Given the description of an element on the screen output the (x, y) to click on. 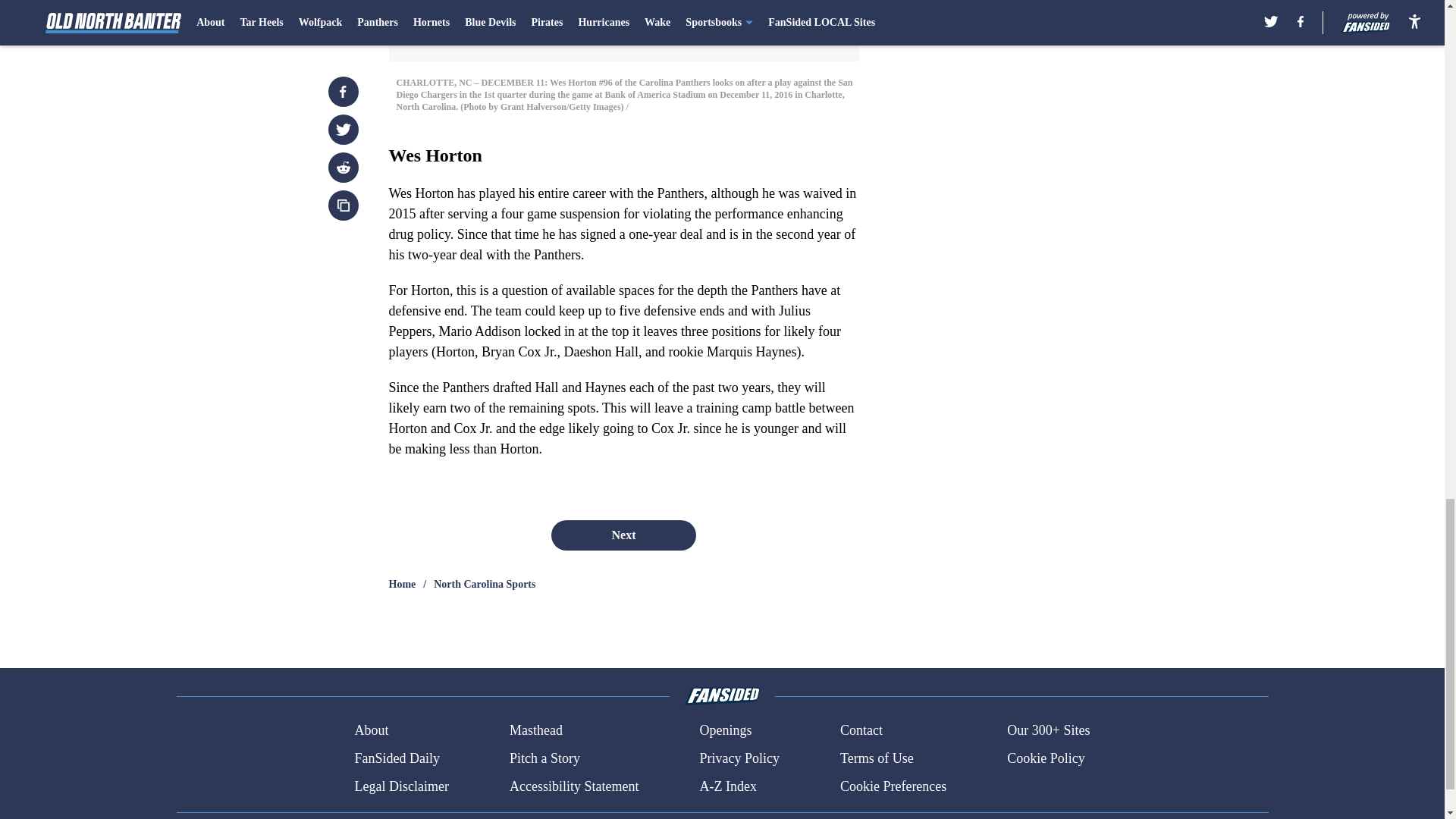
Openings (724, 730)
FanSided Daily (396, 758)
Next (622, 535)
About (370, 730)
Contact (861, 730)
Home (401, 584)
North Carolina Sports (484, 584)
Masthead (535, 730)
